Given the description of an element on the screen output the (x, y) to click on. 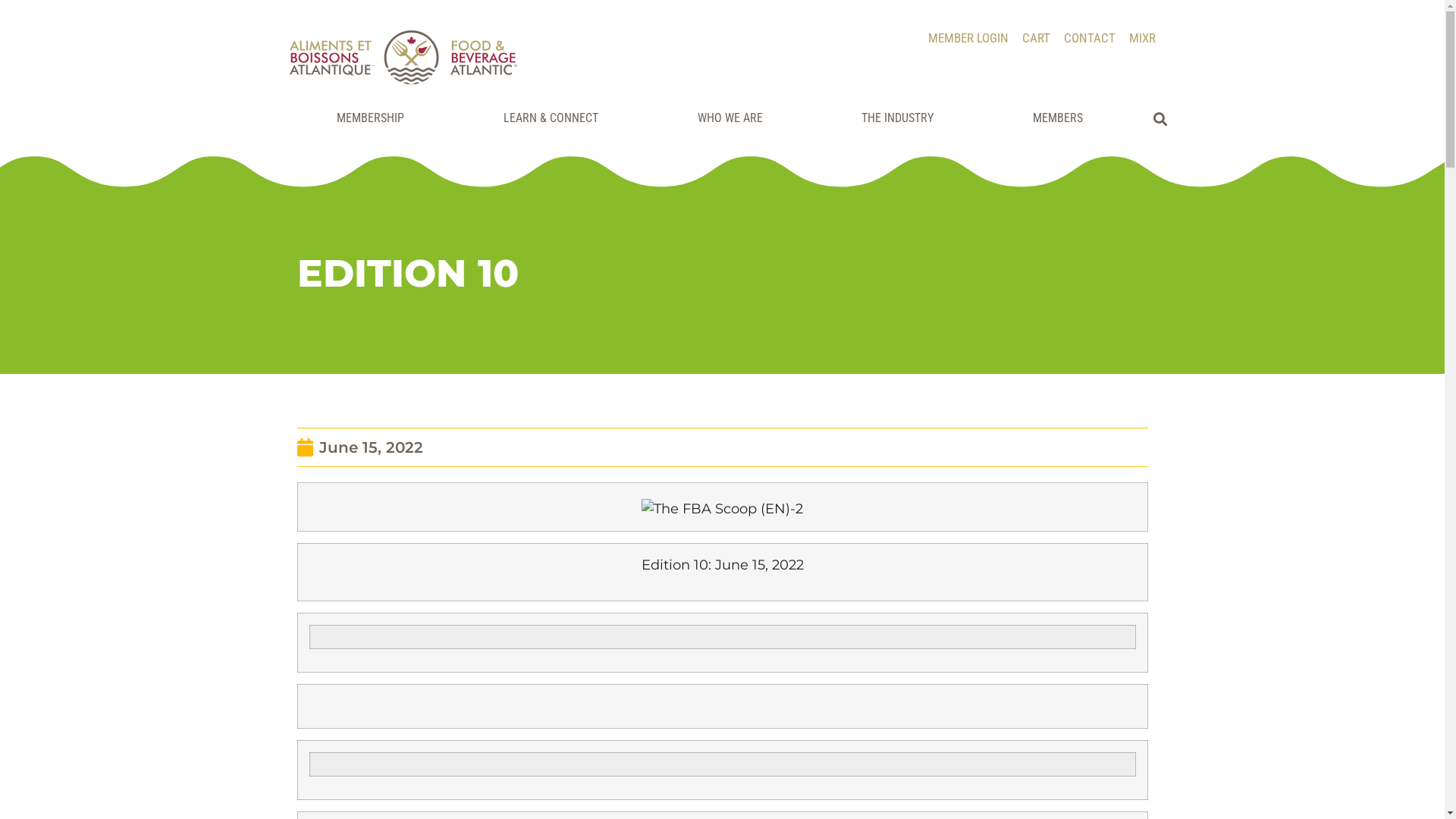
THE INDUSTRY Element type: text (901, 118)
CART Element type: text (1036, 37)
LEARN & CONNECT Element type: text (554, 118)
MEMBERSHIP Element type: text (374, 118)
MEMBER LOGIN Element type: text (968, 37)
WHO WE ARE Element type: text (733, 118)
MIXR Element type: text (1141, 37)
June 15, 2022 Element type: text (360, 447)
CONTACT Element type: text (1088, 37)
MEMBERS Element type: text (1061, 118)
